Given the description of an element on the screen output the (x, y) to click on. 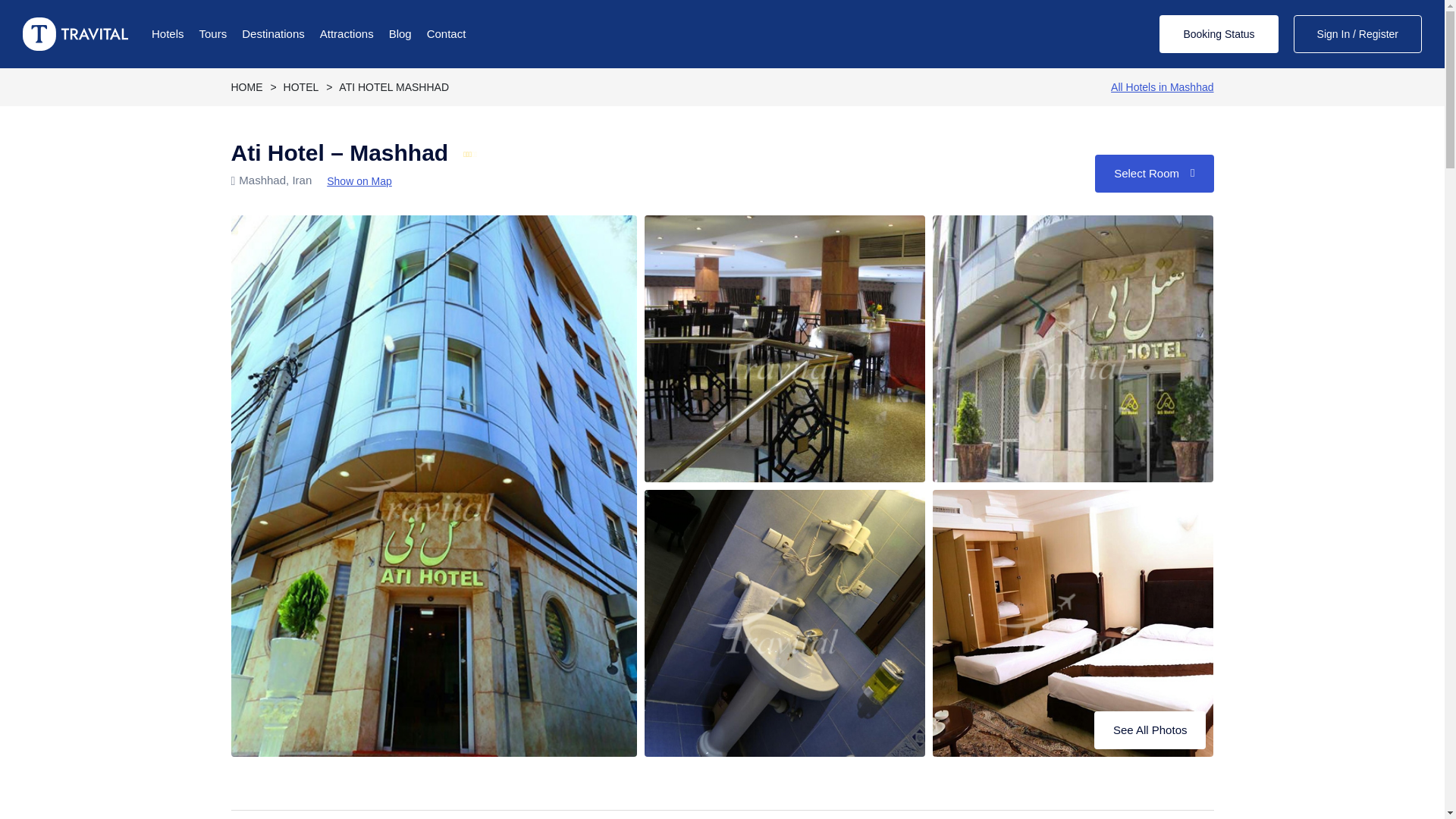
Destinations (273, 34)
Show on Map (358, 180)
ATI HOTEL MASHHAD (393, 87)
Hotels (168, 34)
Blog (400, 34)
All Hotels in Mashhad (1161, 87)
Select Room (1153, 173)
Attractions (347, 34)
HOTEL (300, 87)
Booking Status (1218, 34)
Contact (446, 34)
Tours (213, 34)
HOME (246, 87)
